Given the description of an element on the screen output the (x, y) to click on. 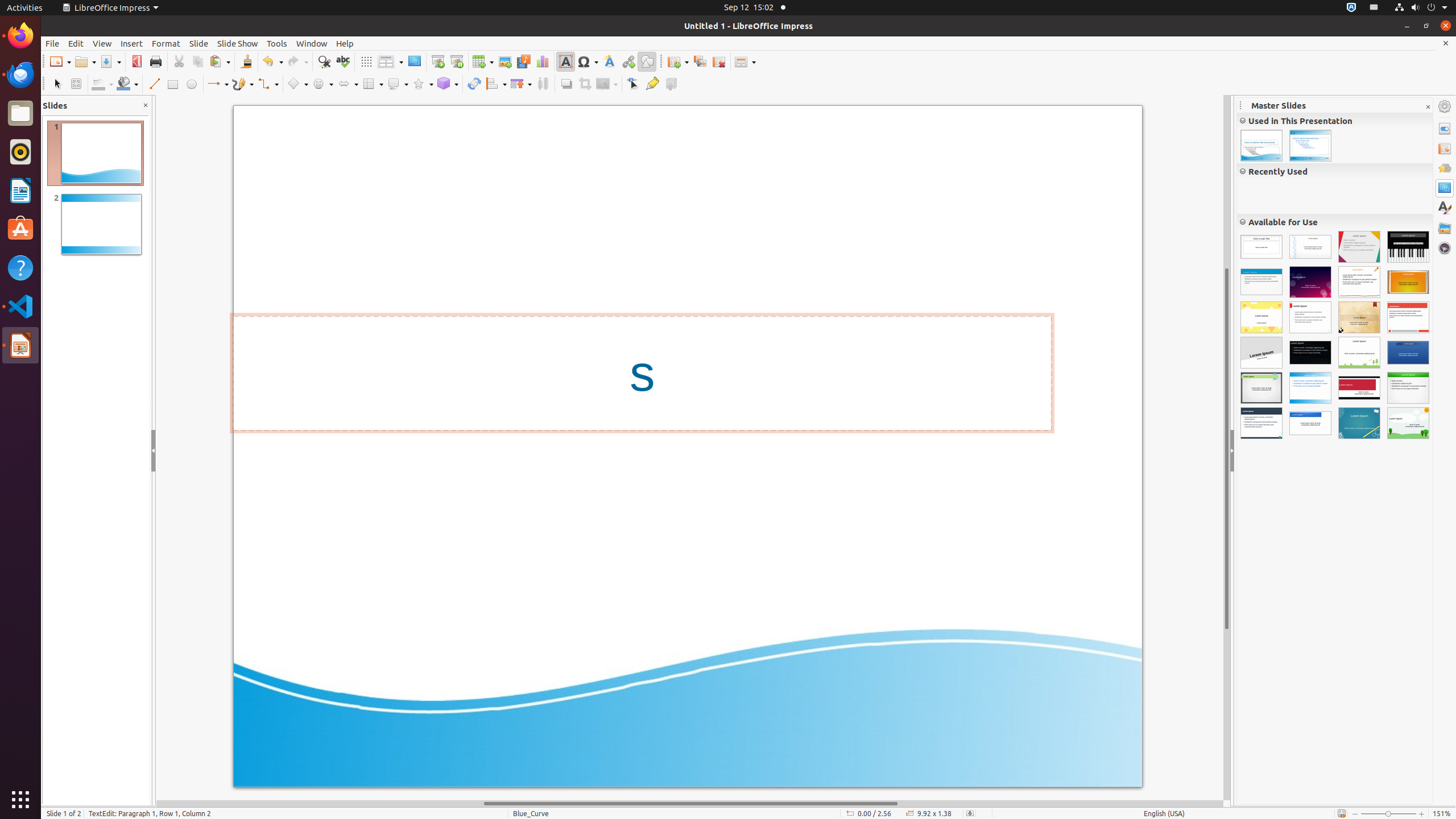
Star Shapes Element type: push-button (422, 83)
Blue_Curve1 Element type: list-item (1309, 145)
Bright Blue Element type: list-item (1309, 422)
Lush Green Element type: list-item (1407, 387)
LibreOffice Impress Element type: push-button (20, 344)
